Given the description of an element on the screen output the (x, y) to click on. 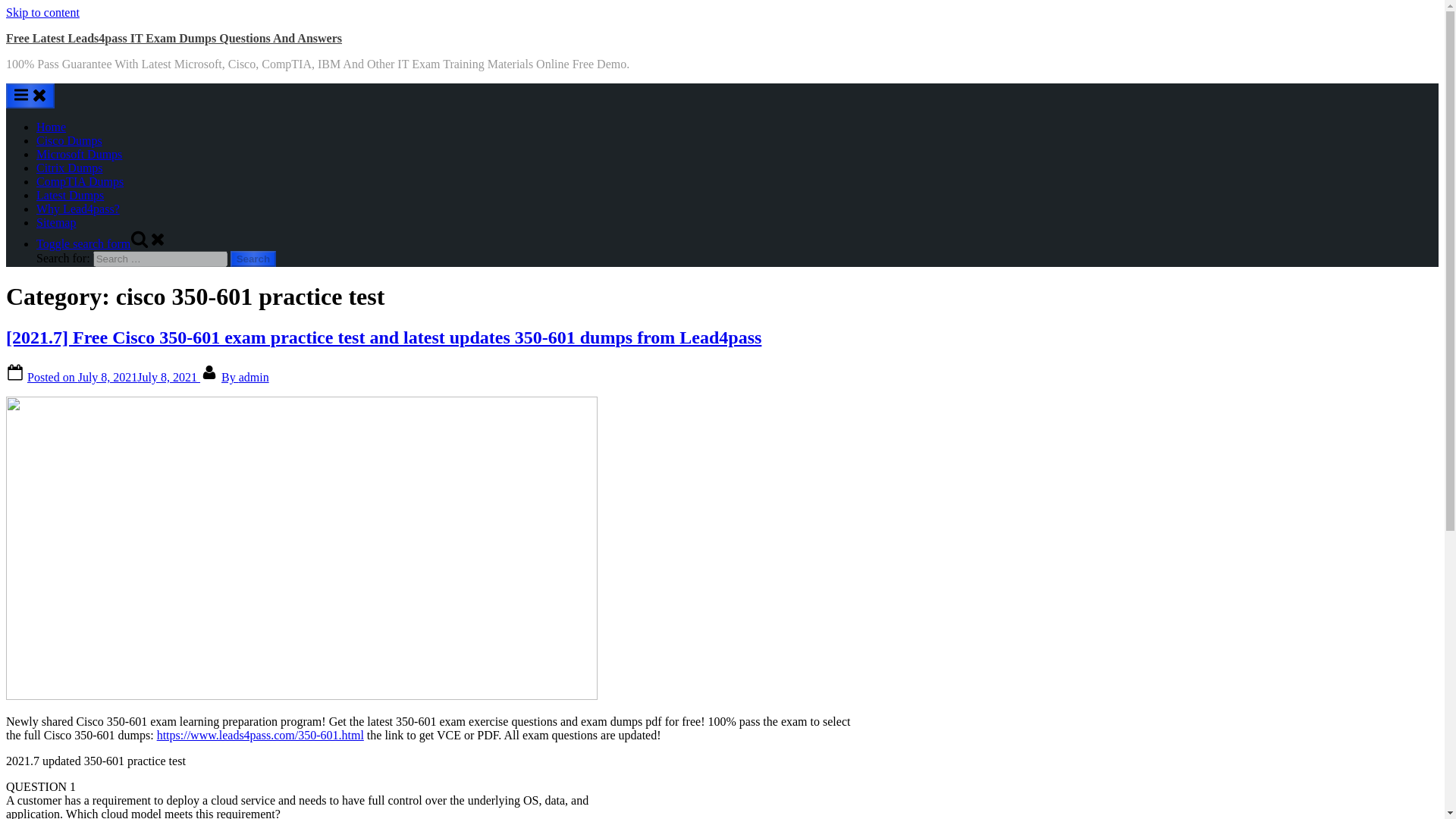
Search (253, 258)
Search (253, 258)
Latest Dumps (69, 195)
Posted on July 8, 2021July 8, 2021 (113, 377)
Why Lead4pass? (77, 208)
Skip to content (42, 11)
Citrix Dumps (69, 167)
CompTIA Dumps (79, 181)
Cisco Dumps (68, 140)
Home (50, 126)
Sitemap (55, 222)
Microsoft Dumps (79, 154)
Free Latest Leads4pass IT Exam Dumps Questions And Answers (173, 38)
By admin (245, 377)
Search (253, 258)
